Given the description of an element on the screen output the (x, y) to click on. 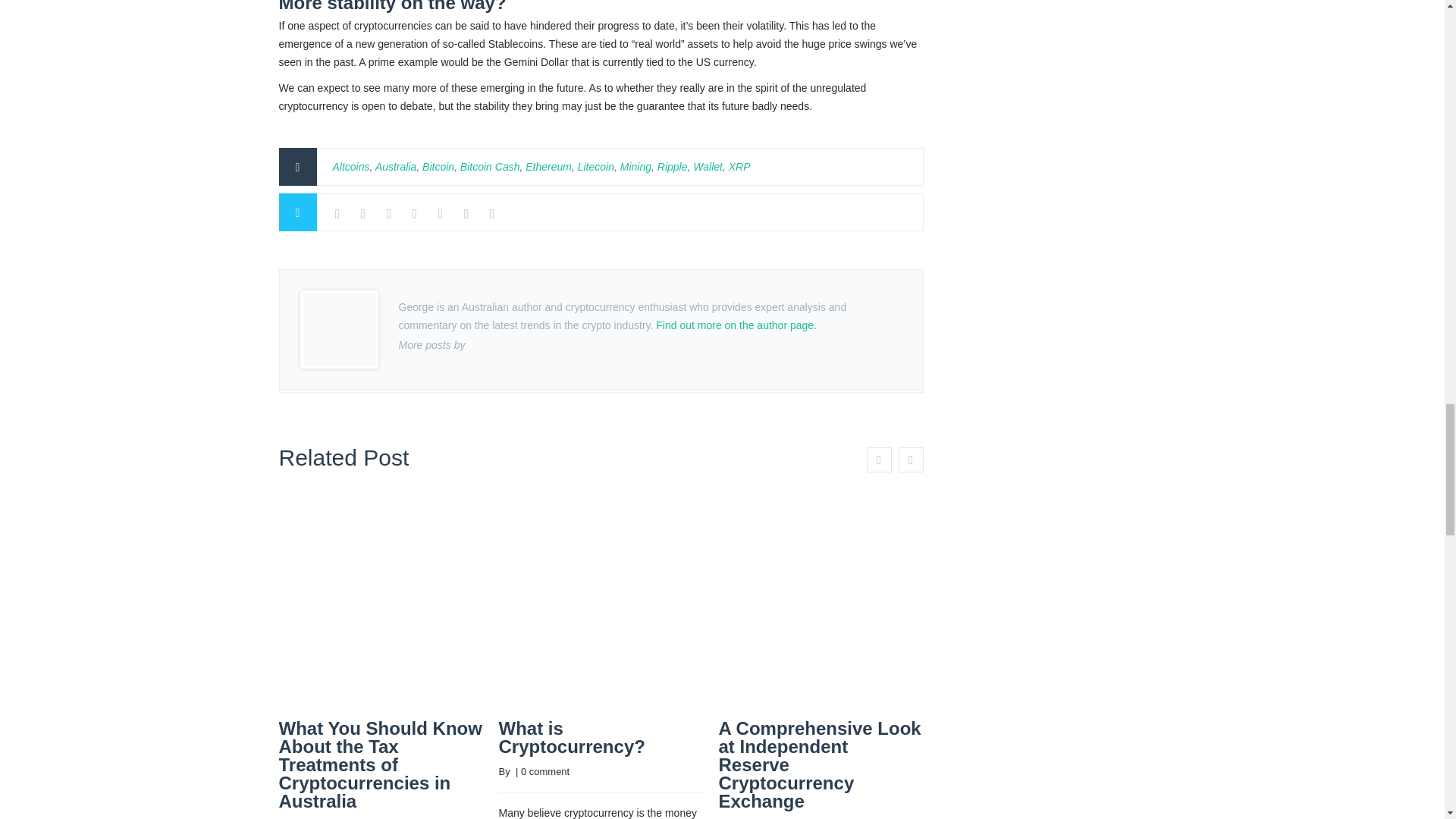
Wallet (707, 166)
Ripple (672, 166)
XRP (740, 166)
Mining (635, 166)
Find out more on the author page. (736, 325)
What is Cryptocurrency? (572, 737)
Ethereum (548, 166)
Litecoin (596, 166)
